Given the description of an element on the screen output the (x, y) to click on. 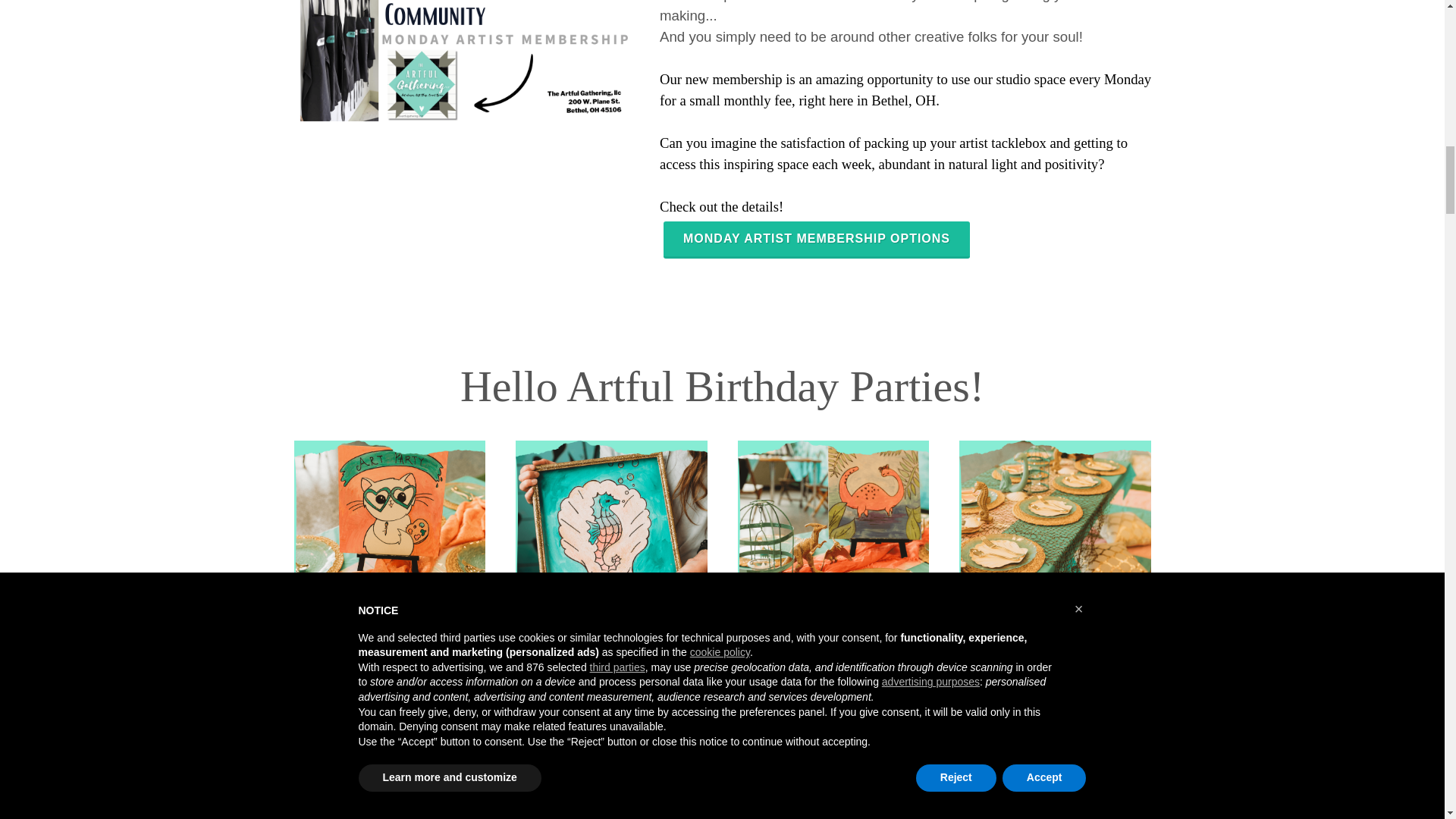
MONDAY ARTIST MEMBERSHIP OPTIONS (816, 239)
